Given the description of an element on the screen output the (x, y) to click on. 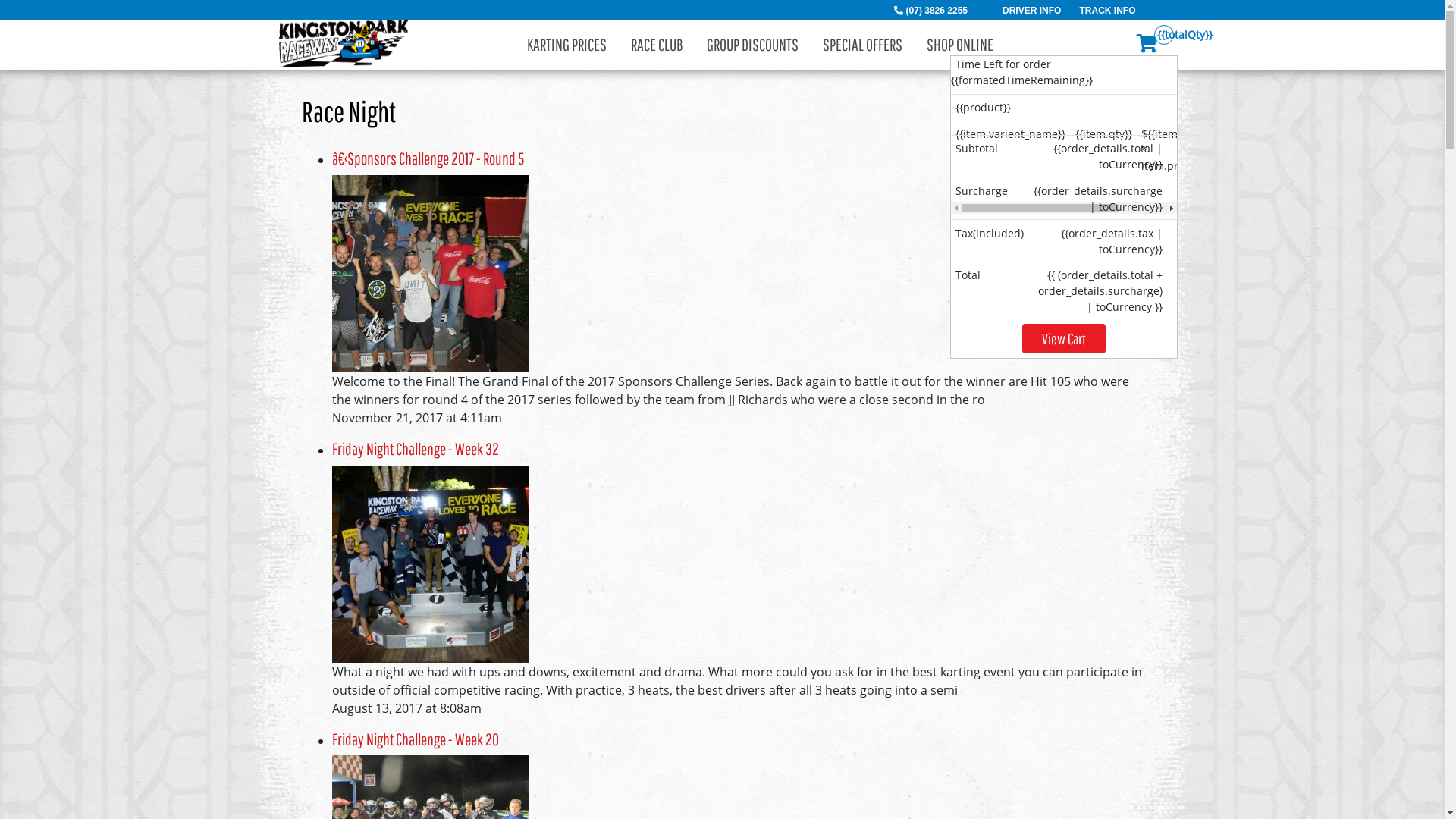
Friday Night Challenge - Week 32 Element type: text (415, 448)
View Cart Element type: text (1063, 338)
GROUP DISCOUNTS Element type: text (752, 44)
Logo Element type: hover (343, 42)
RACE CLUB Element type: text (656, 44)
(07) 3826 2255 Element type: text (936, 10)
  Element type: text (1224, 136)
Friday Night Challenge - Week 20 Element type: text (415, 738)
SHOP ONLINE Element type: text (960, 44)
KARTING PRICES Element type: text (566, 44)
SPECIAL OFFERS Element type: text (862, 44)
DRIVER INFO Element type: text (1031, 10)
TRACK INFO Element type: text (1107, 10)
